Given the description of an element on the screen output the (x, y) to click on. 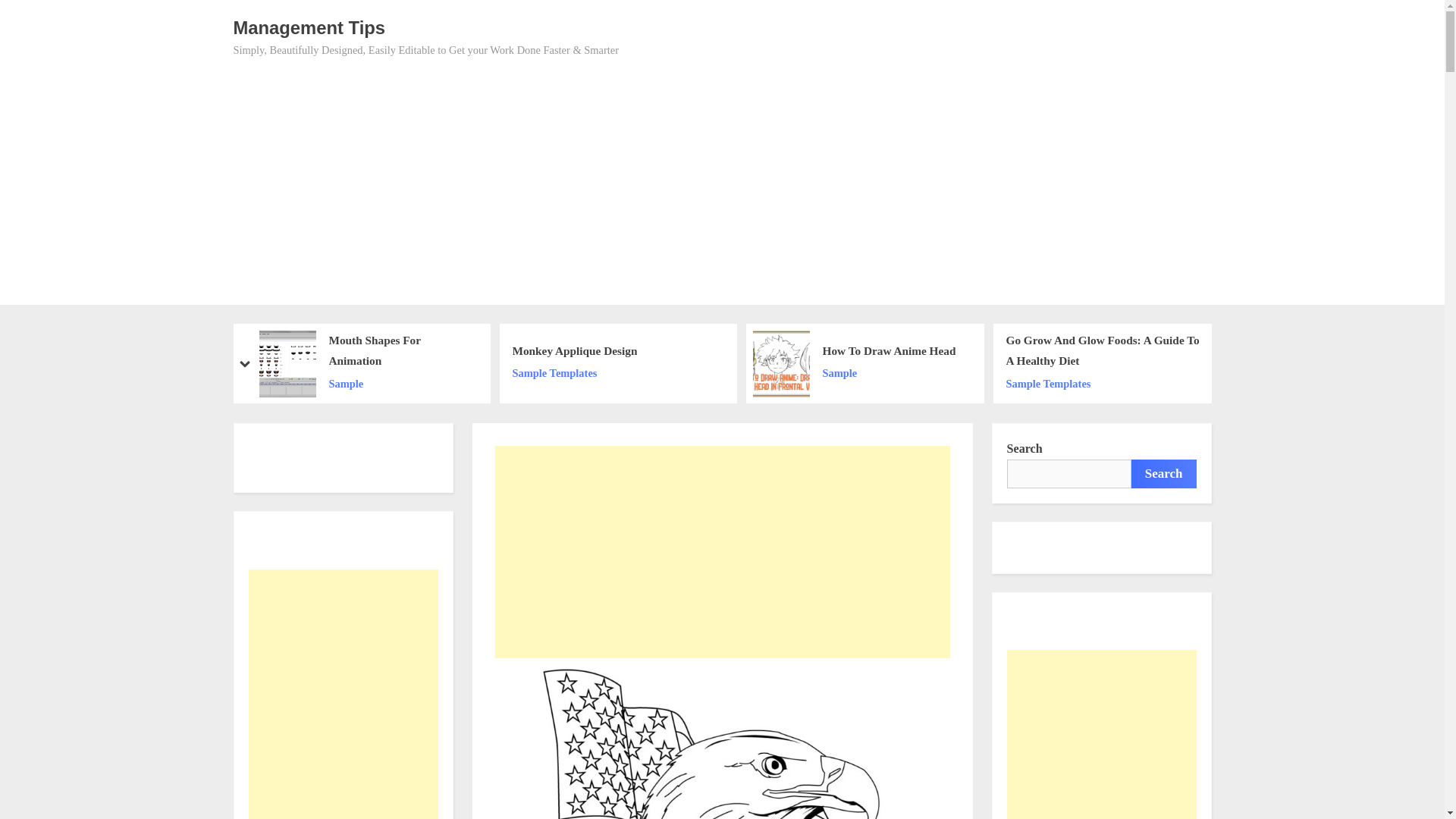
Monkey Applique Design (574, 351)
Advertisement (722, 551)
Go Grow And Glow Foods: A Guide To A Healthy Diet (1107, 351)
Sample (888, 373)
Sample Templates (574, 373)
Sample (401, 383)
Management Tips (308, 27)
How To Draw Anime Head (888, 351)
Mouth Shapes For Animation (401, 351)
